Given the description of an element on the screen output the (x, y) to click on. 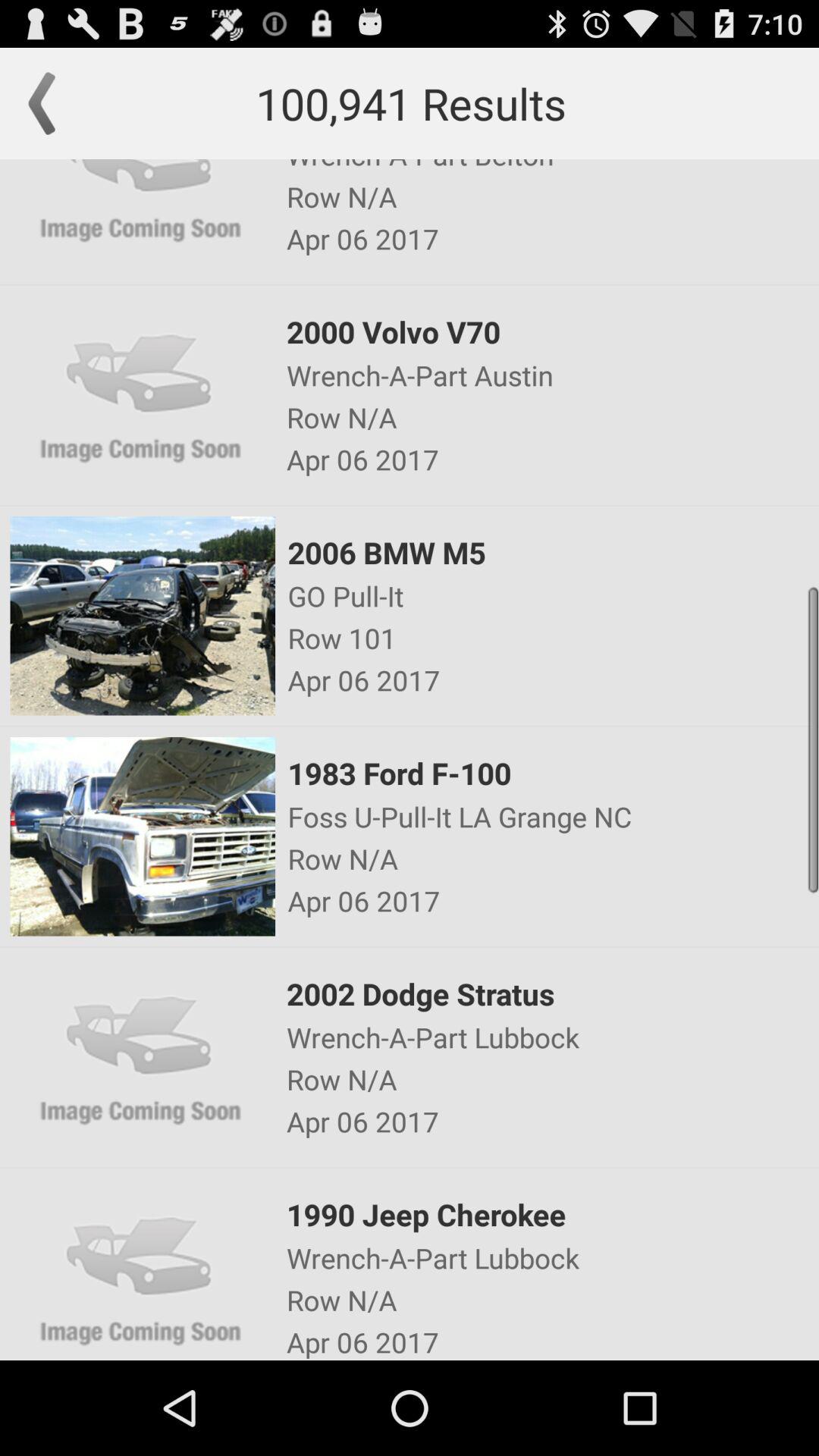
launch item above foss u pull app (551, 773)
